Given the description of an element on the screen output the (x, y) to click on. 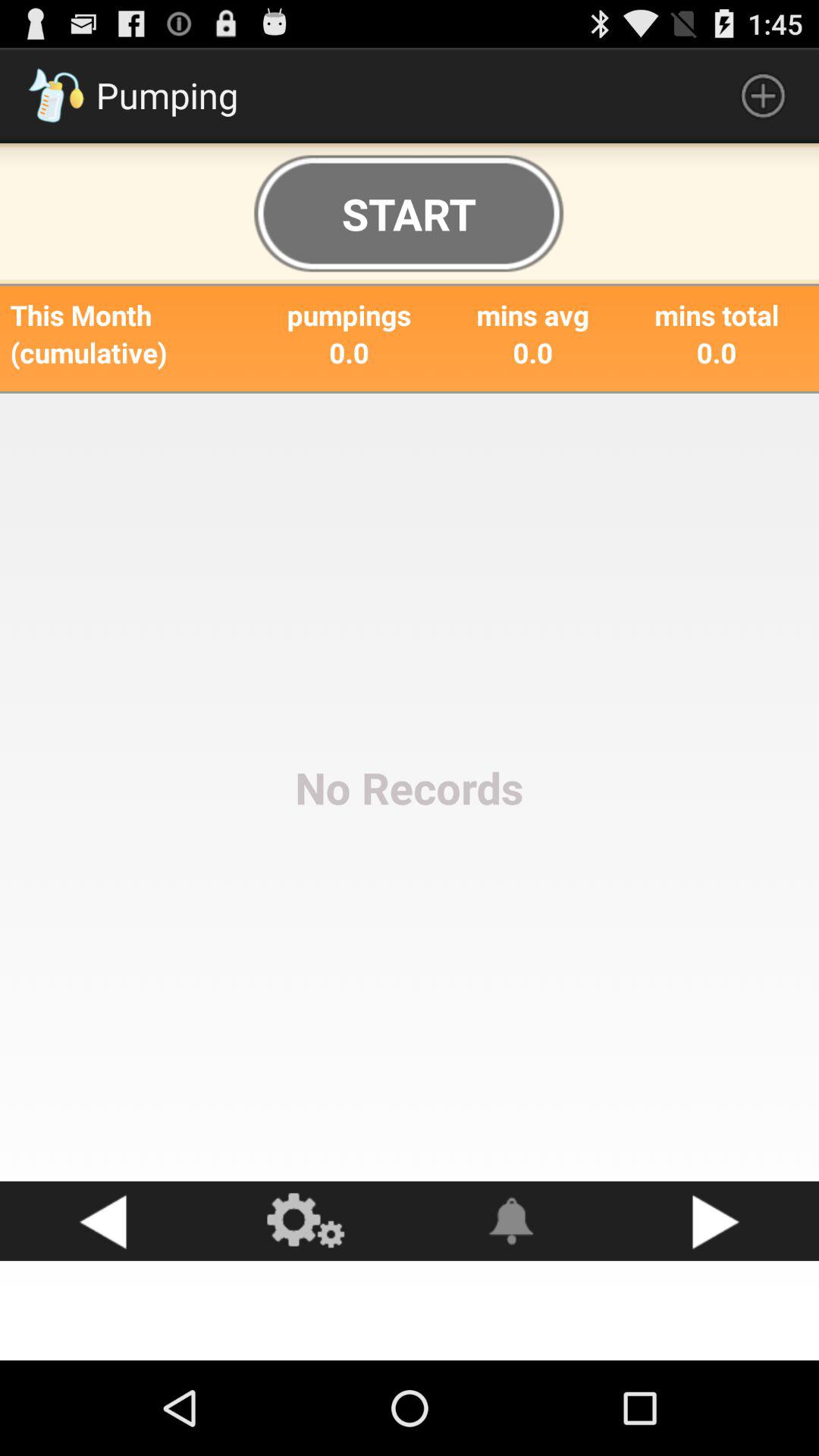
go right (716, 1220)
